Given the description of an element on the screen output the (x, y) to click on. 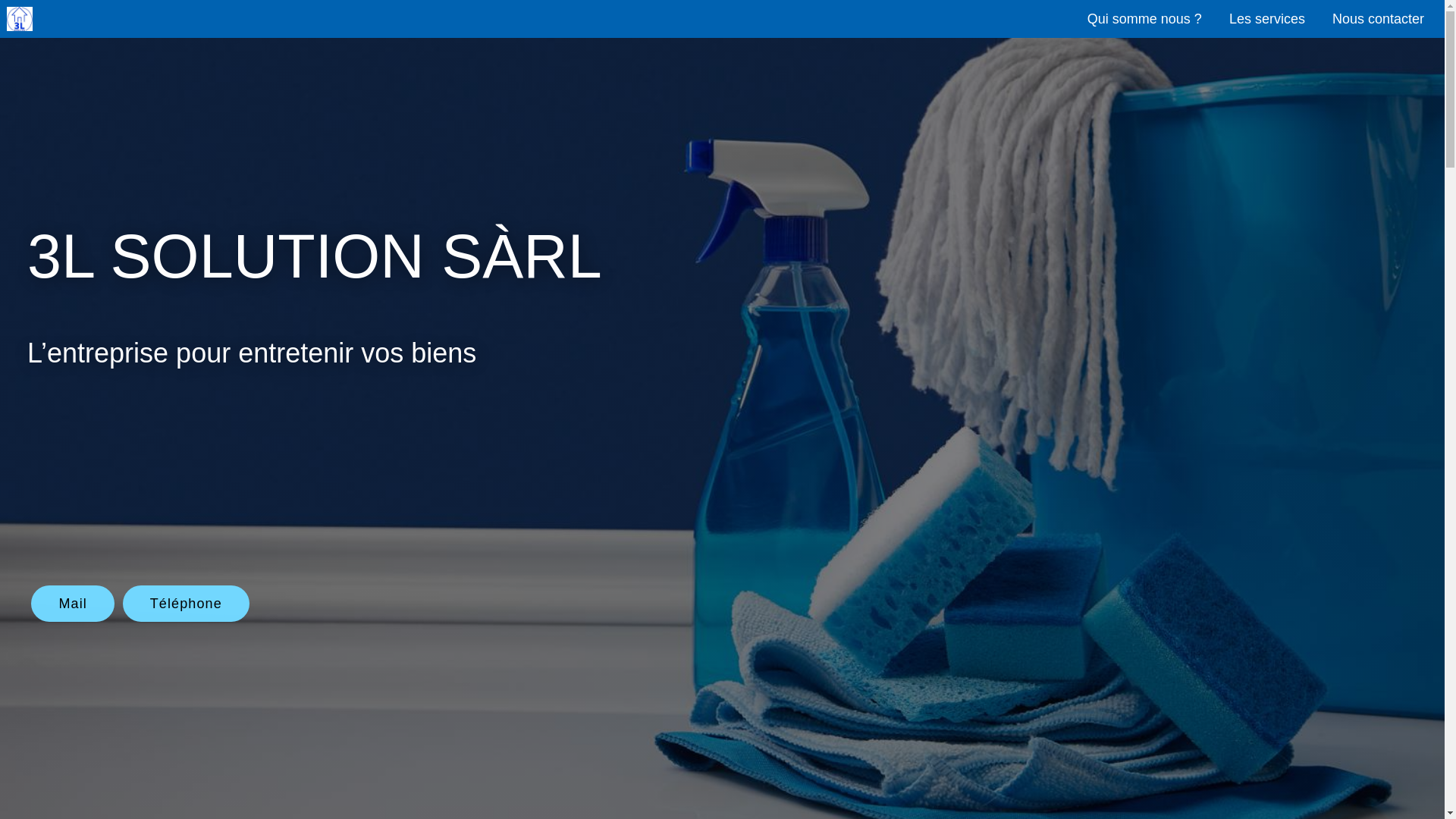
Nous contacter Element type: text (1377, 17)
Mail Element type: text (72, 603)
Les services Element type: text (1266, 17)
Qui somme nous ? Element type: text (1144, 17)
